Given the description of an element on the screen output the (x, y) to click on. 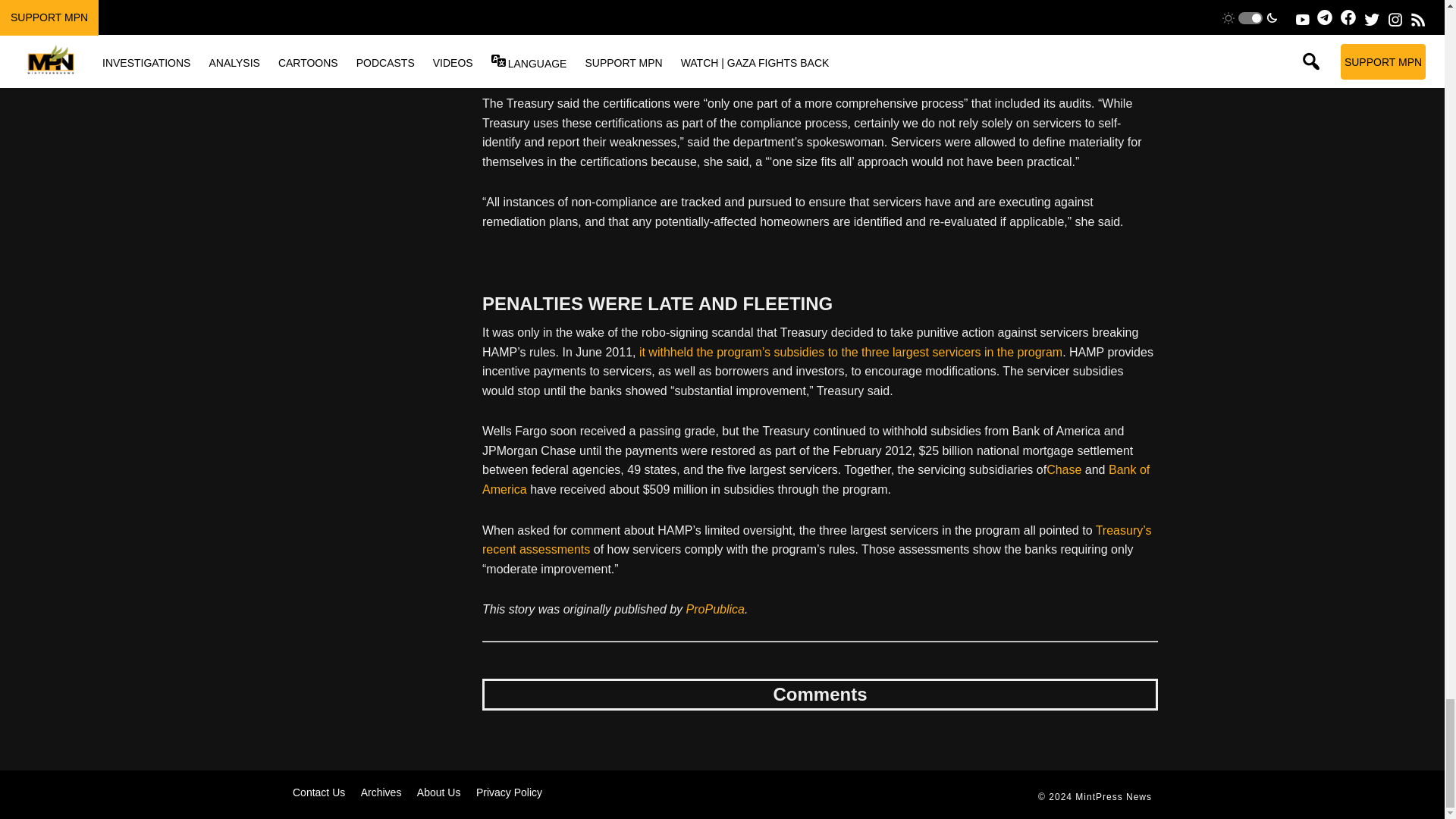
Click here to go to ProPublice (714, 608)
